Given the description of an element on the screen output the (x, y) to click on. 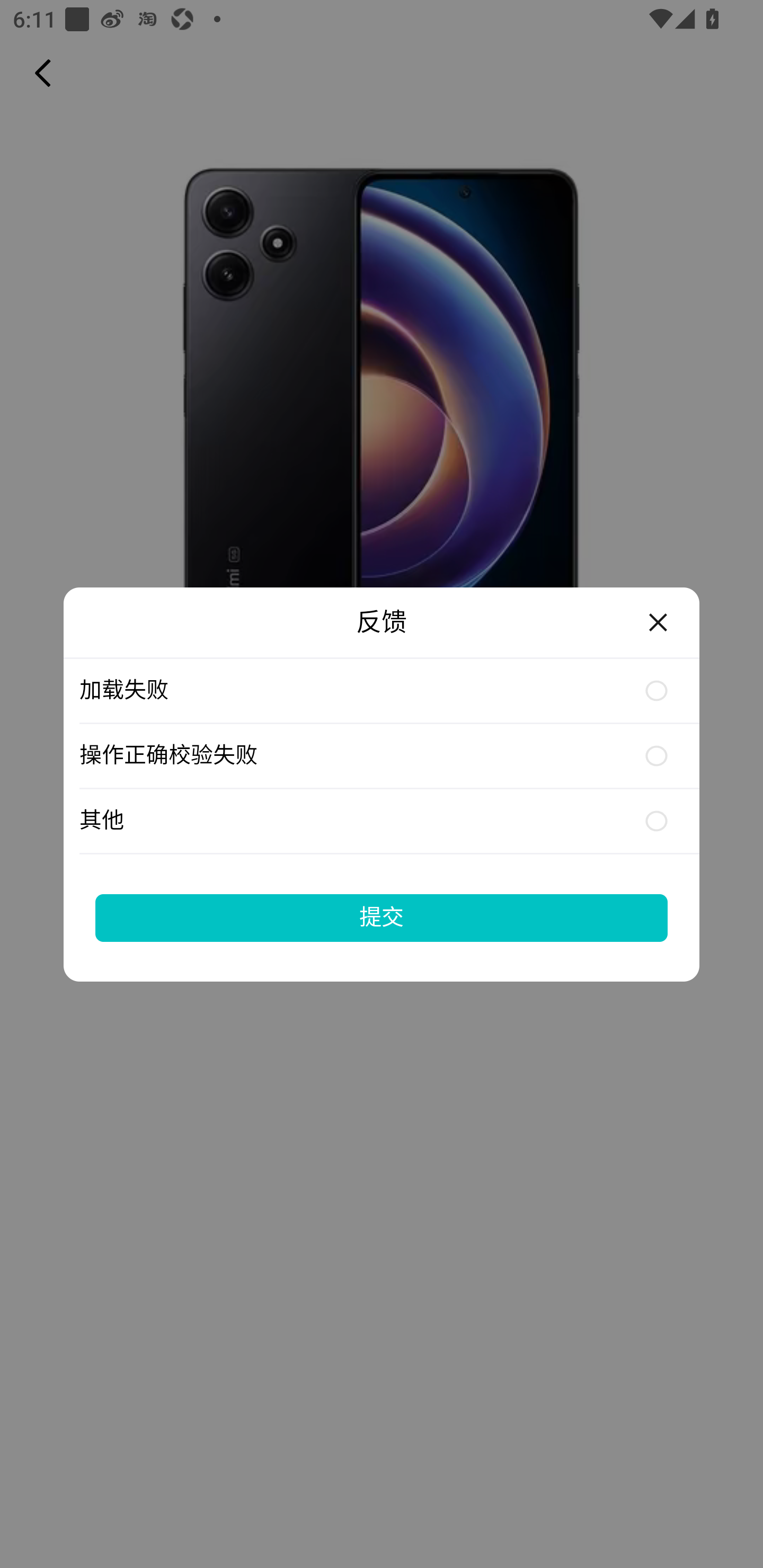
提交 (381, 917)
